Given the description of an element on the screen output the (x, y) to click on. 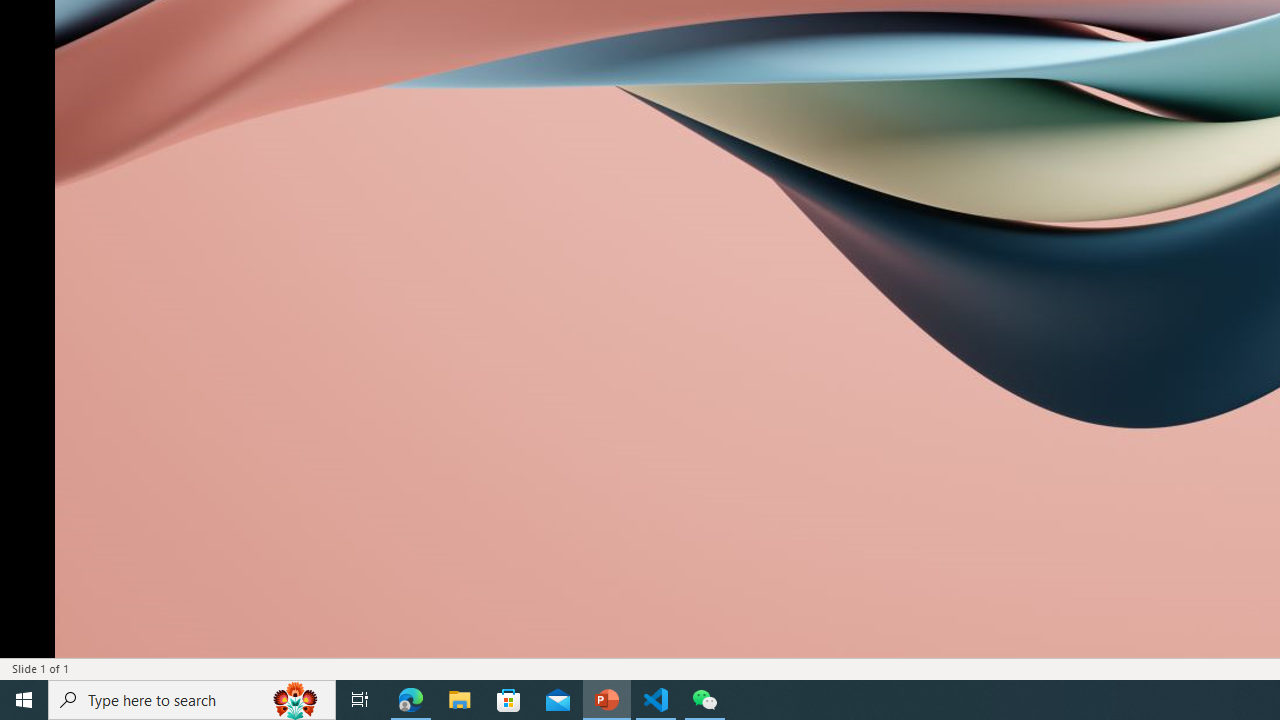
Visual Studio Code - 1 running window (656, 699)
File Explorer (460, 699)
Task View (359, 699)
Microsoft Edge - 1 running window (411, 699)
Start (24, 699)
Microsoft Store (509, 699)
WeChat - 1 running window (704, 699)
Type here to search (191, 699)
PowerPoint - 1 running window (607, 699)
Search highlights icon opens search home window (295, 699)
